Given the description of an element on the screen output the (x, y) to click on. 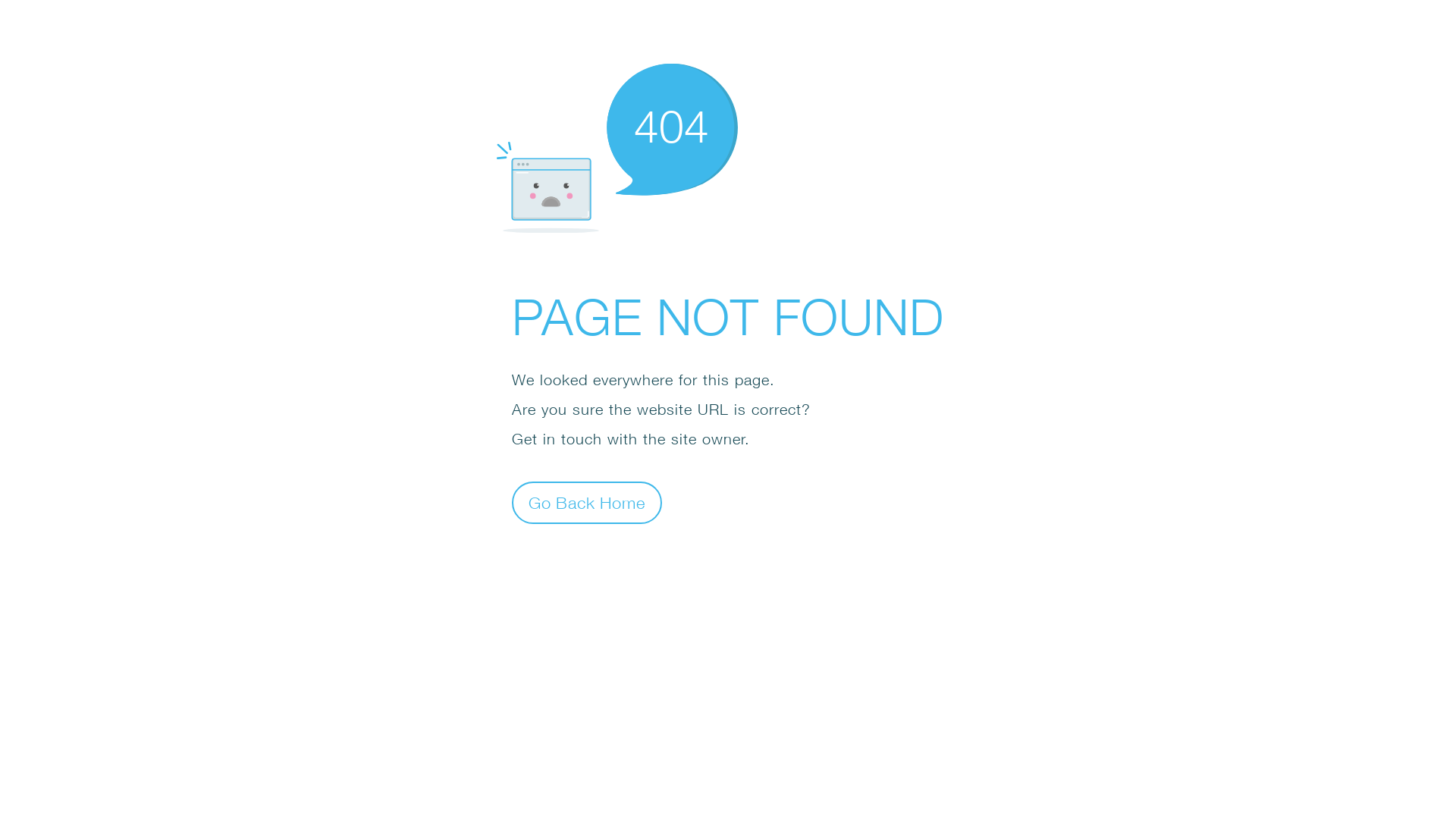
Go Back Home Element type: text (586, 502)
